Given the description of an element on the screen output the (x, y) to click on. 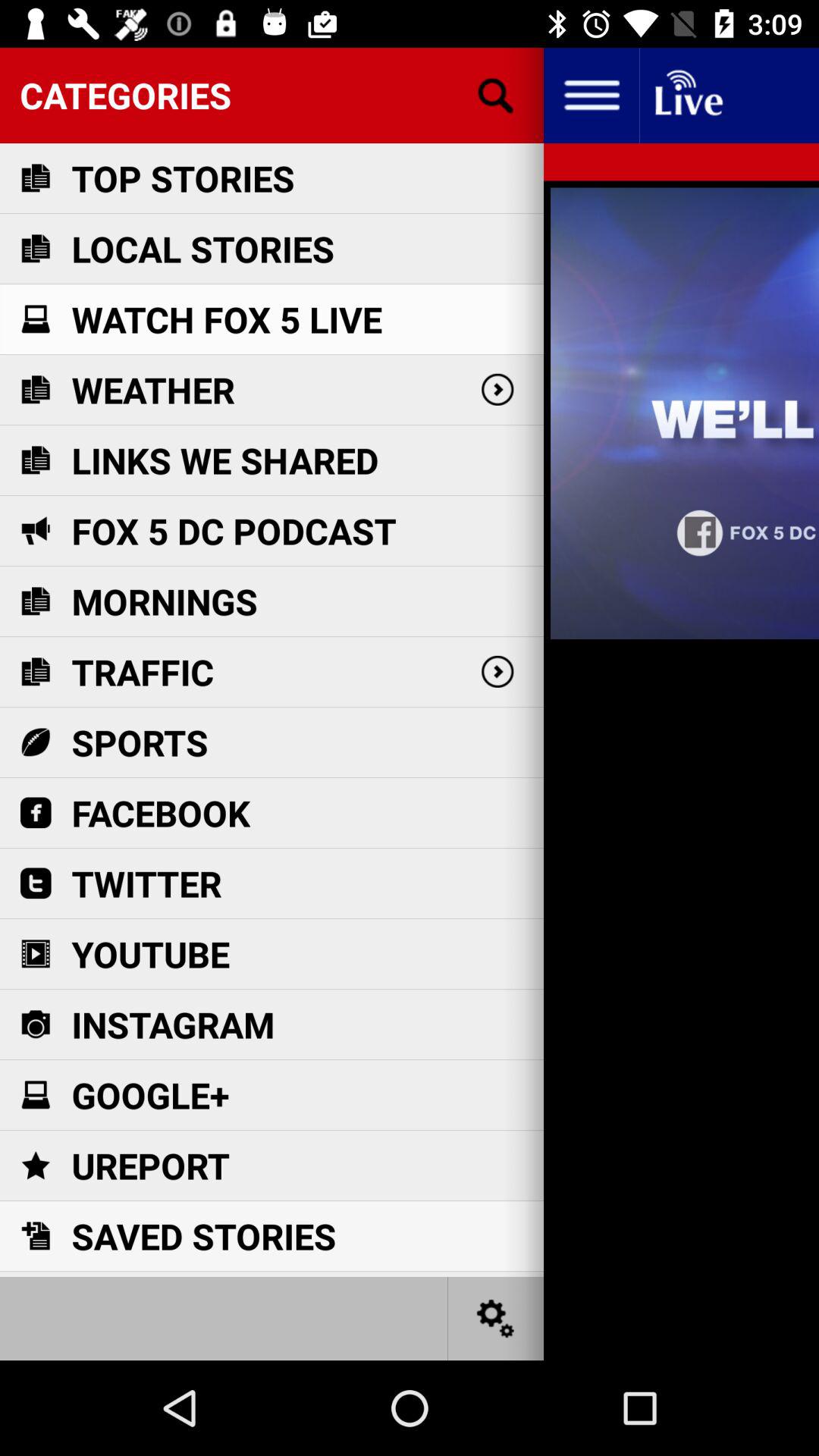
open menu (591, 95)
